Given the description of an element on the screen output the (x, y) to click on. 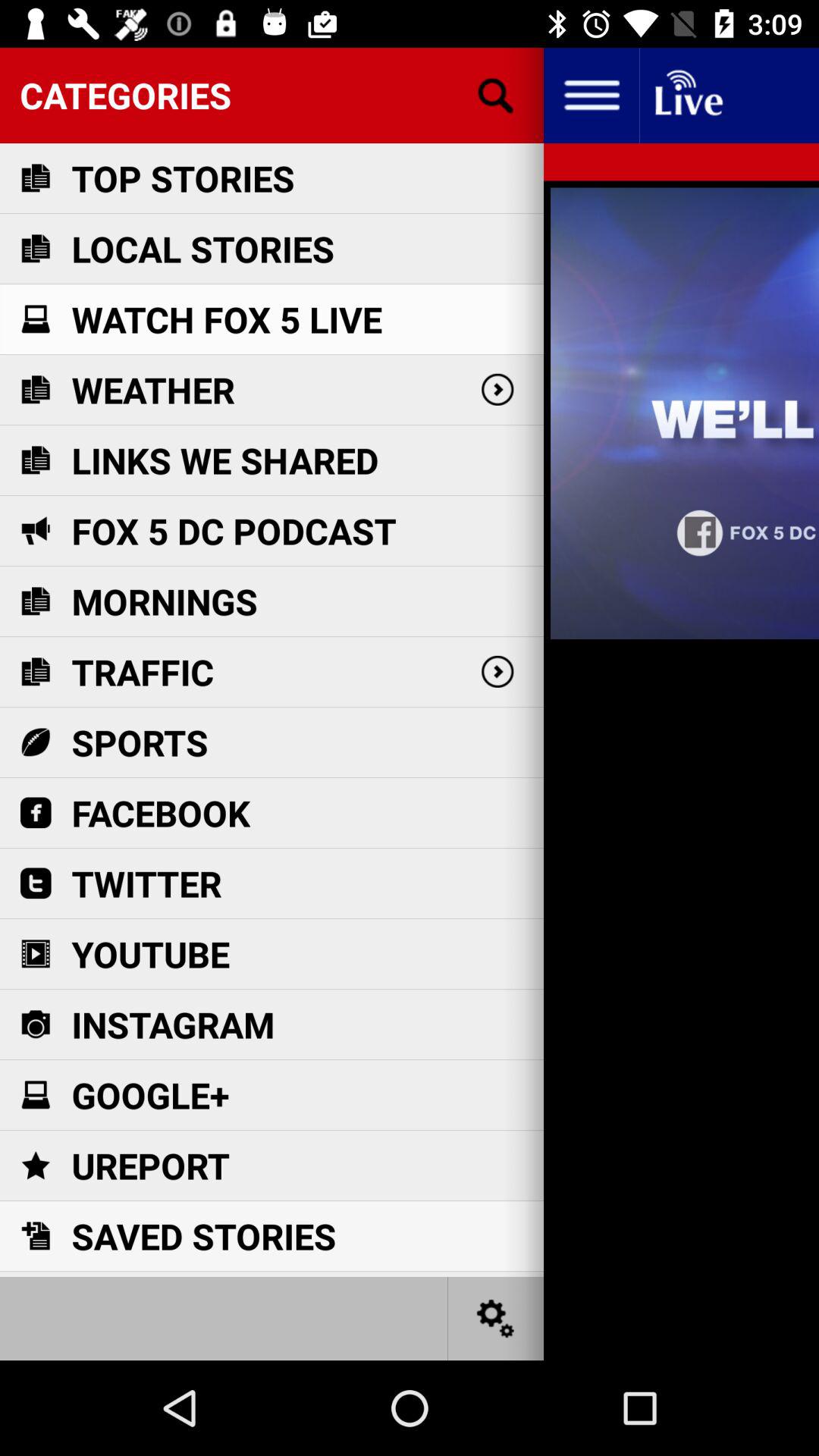
open menu (591, 95)
